Given the description of an element on the screen output the (x, y) to click on. 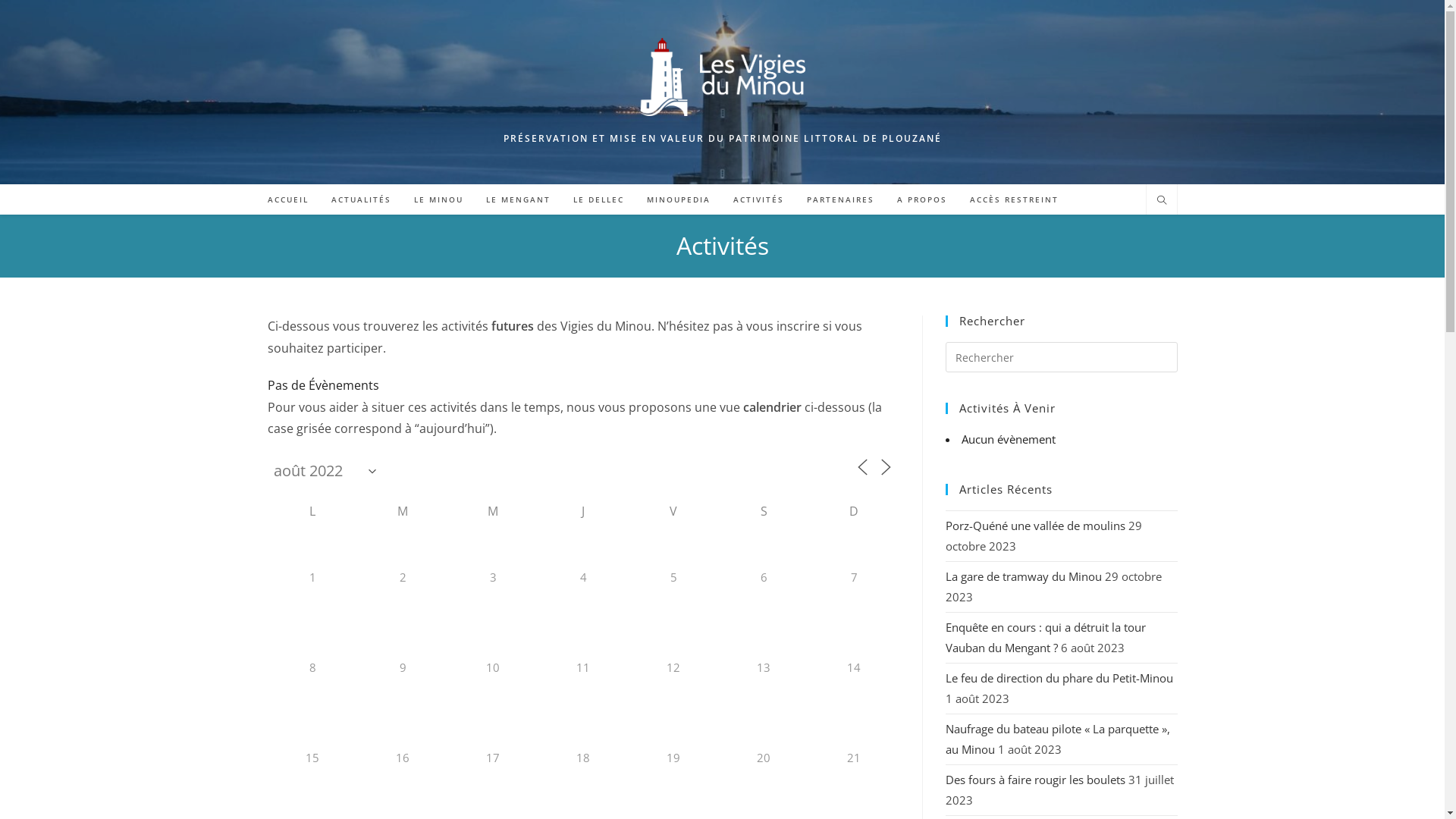
Le feu de direction du phare du Petit-Minou Element type: text (1058, 677)
La gare de tramway du Minou Element type: text (1022, 575)
LE MINOU Element type: text (437, 199)
A PROPOS Element type: text (921, 199)
LE DELLEC Element type: text (597, 199)
ACCUEIL Element type: text (288, 199)
LE MENGANT Element type: text (517, 199)
MINOUPEDIA Element type: text (678, 199)
PARTENAIRES Element type: text (839, 199)
